Given the description of an element on the screen output the (x, y) to click on. 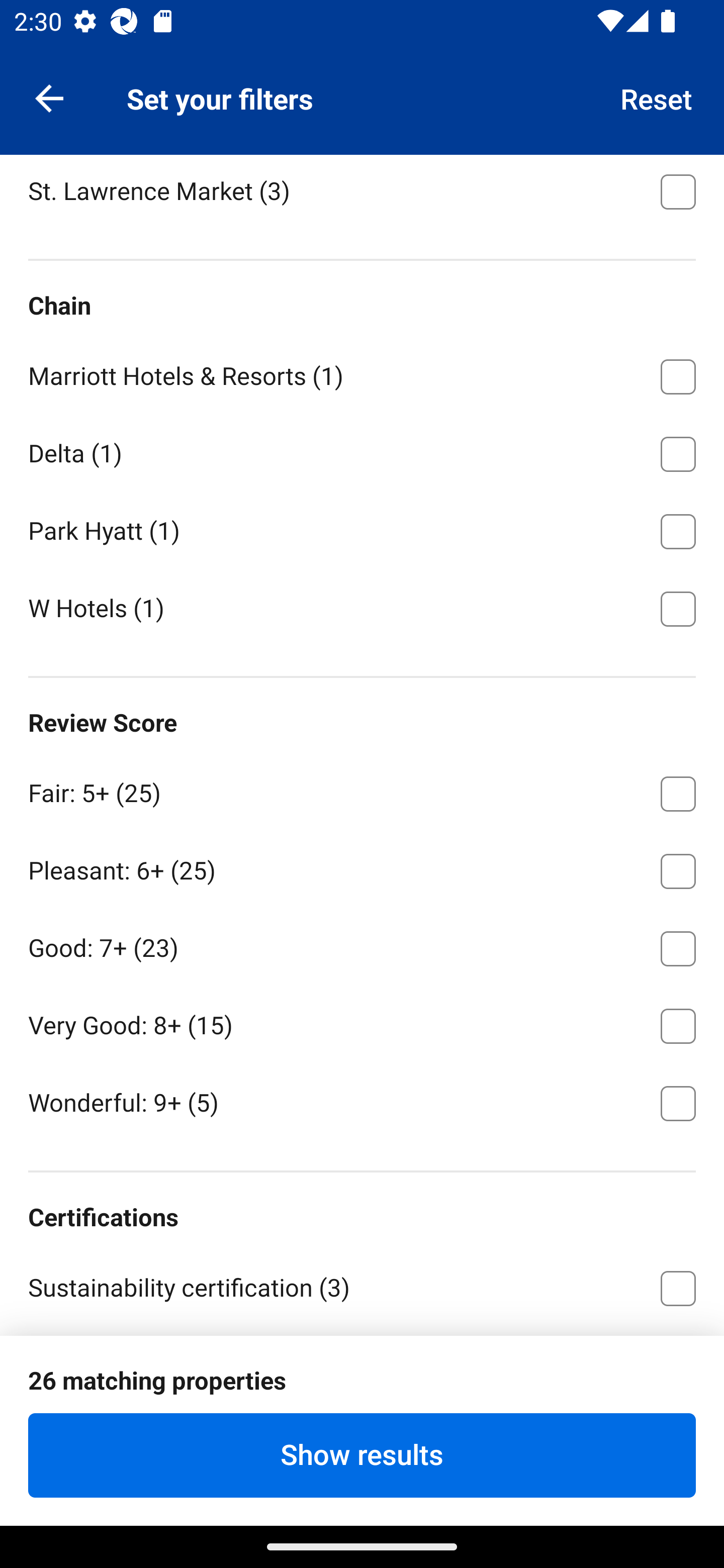
Navigate up (49, 97)
Reset (656, 97)
CN Tower ⁦(11) (361, 111)
St. Lawrence Market ⁦(3) (361, 192)
Marriott Hotels & Resorts ⁦(1) (361, 372)
Delta ⁦(1) (361, 450)
Park Hyatt ⁦(1) (361, 528)
W Hotels ⁦(1) (361, 607)
Fair: 5+ ⁦(25) (361, 790)
Pleasant: 6+ ⁦(25) (361, 867)
Good: 7+ ⁦(23) (361, 945)
Very Good: 8+ ⁦(15) (361, 1022)
Wonderful: 9+ ⁦(5) (361, 1102)
Sustainability certification ⁦(3) (361, 1286)
Show results (361, 1454)
